Given the description of an element on the screen output the (x, y) to click on. 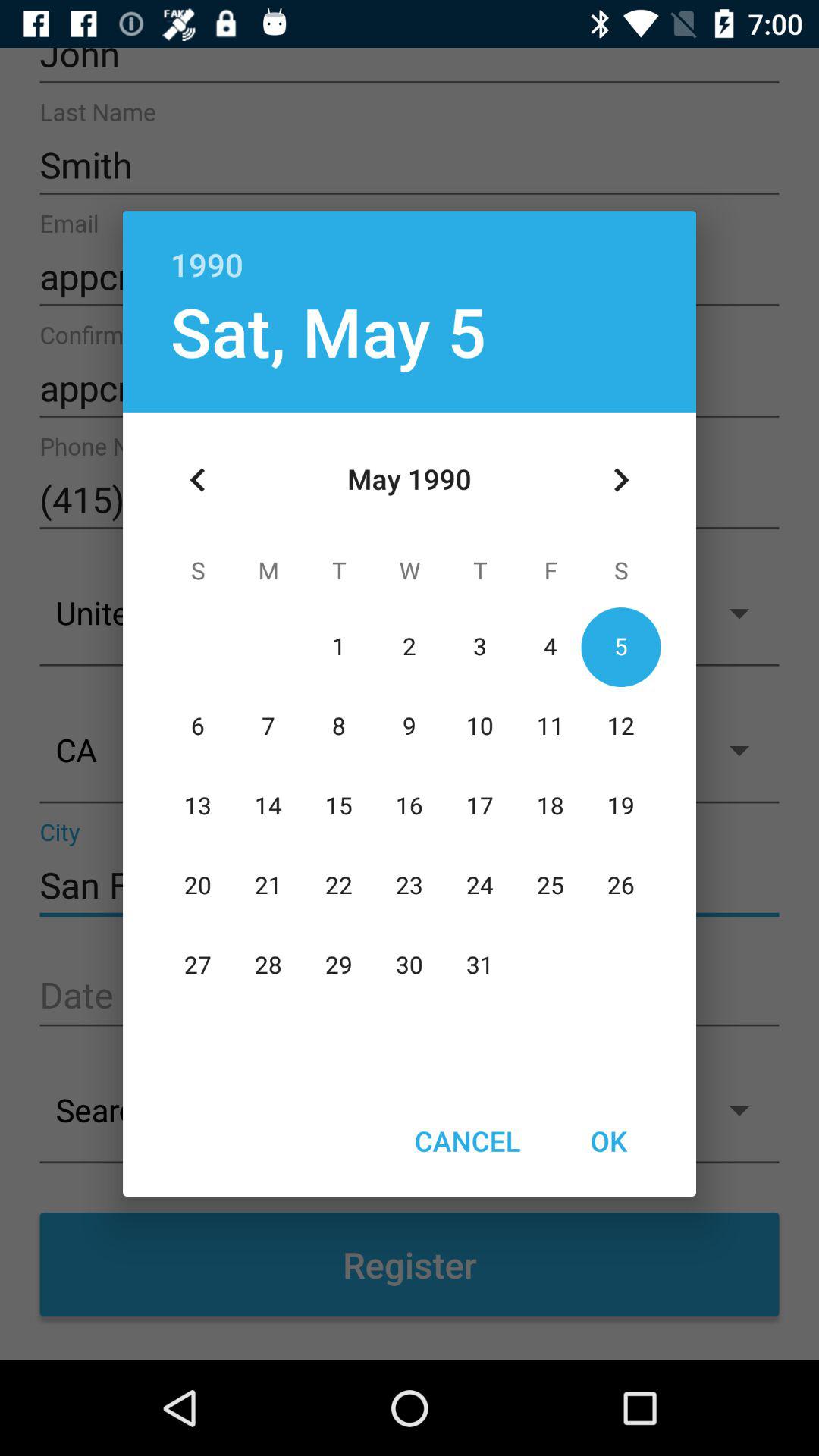
click the icon above ok (620, 479)
